Given the description of an element on the screen output the (x, y) to click on. 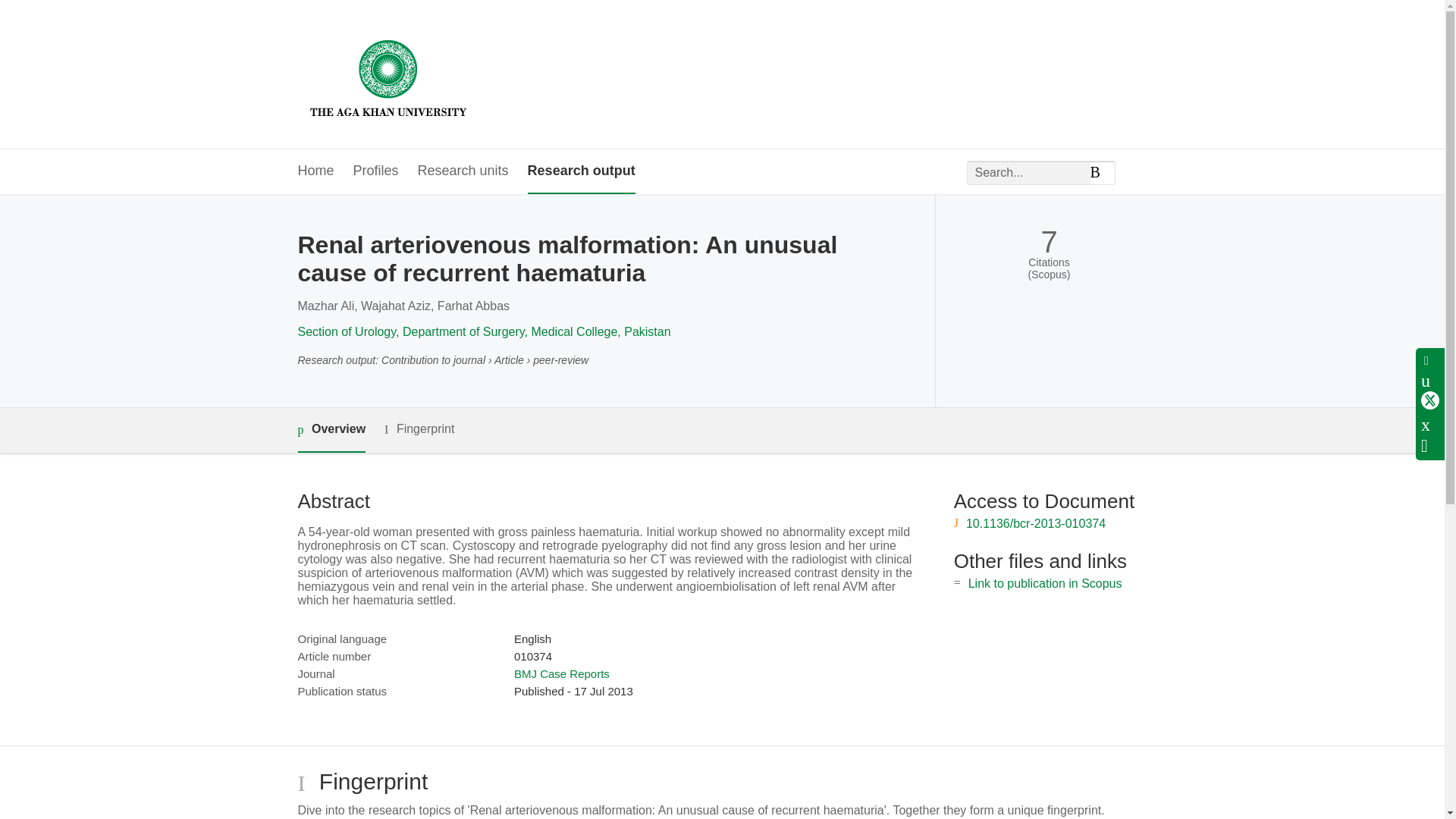
Fingerprint (419, 429)
Link to publication in Scopus (1045, 583)
Research units (462, 171)
The Aga Khan University Home (388, 74)
Research output (580, 171)
Overview (331, 429)
BMJ Case Reports (561, 673)
Profiles (375, 171)
